Given the description of an element on the screen output the (x, y) to click on. 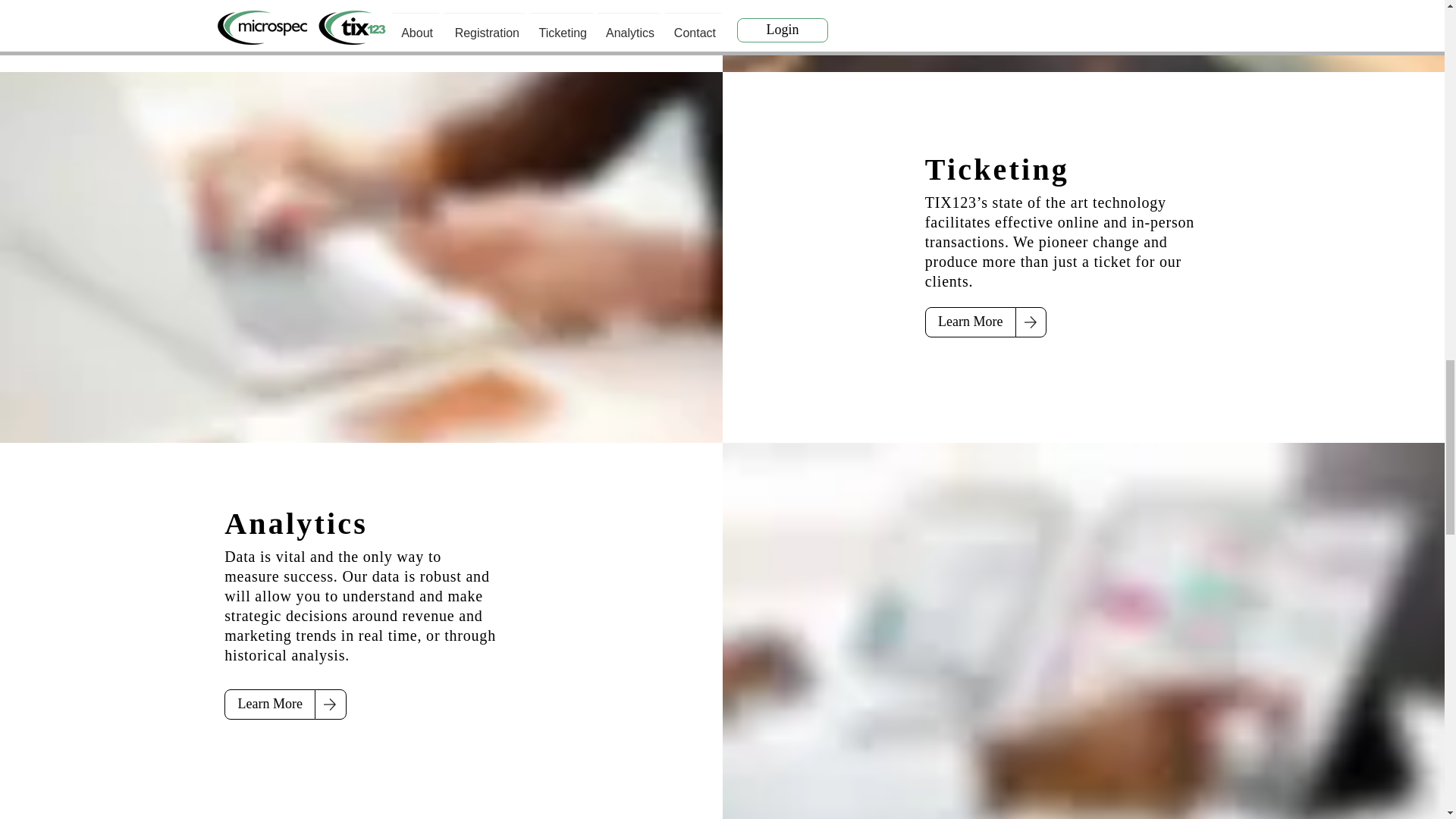
Learn More (269, 704)
Learn More (970, 322)
